Given the description of an element on the screen output the (x, y) to click on. 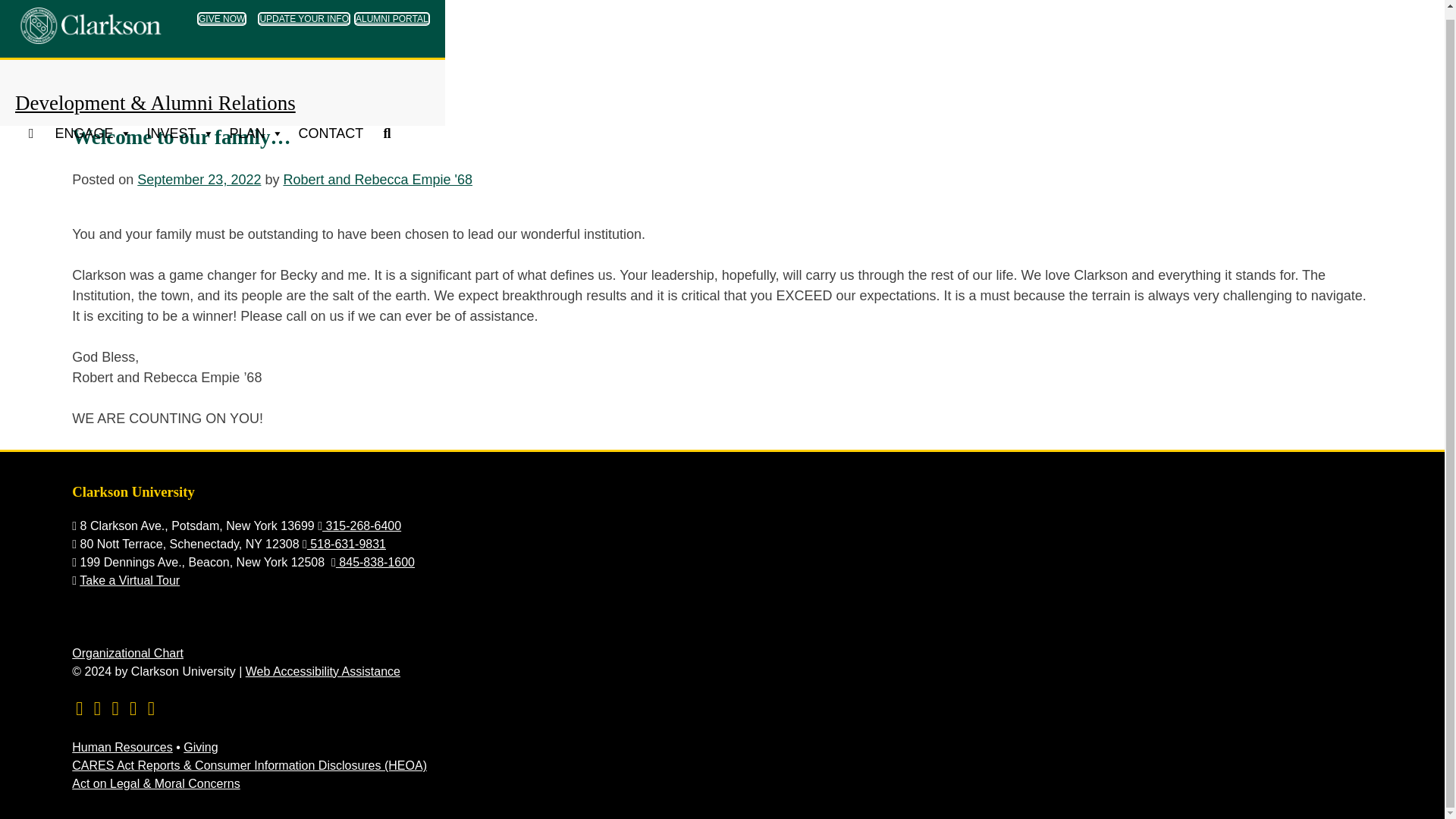
Clarkson University on YouTube (78, 708)
Clarkson University on Facebook (114, 708)
GIVE NOW (221, 10)
Clarkson University on Twitter (97, 708)
Clarkson University on Instagram (151, 708)
PLAN (256, 124)
Clarkson University on LinkedIn (132, 708)
ALUMNI PORTAL (391, 10)
UPDATE YOUR INFO (303, 10)
INVEST (180, 124)
ENGAGE (92, 124)
